Given the description of an element on the screen output the (x, y) to click on. 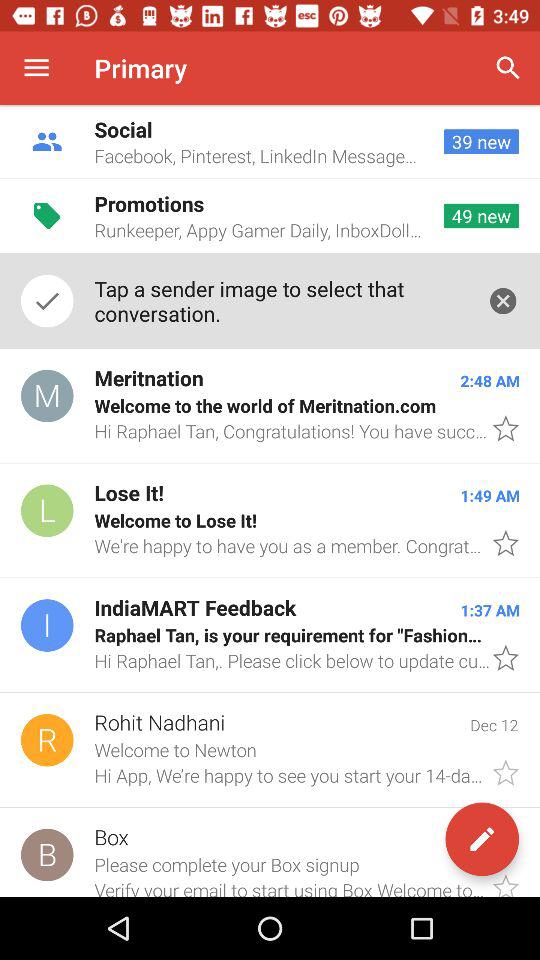
swipe until tap a sender icon (280, 300)
